Given the description of an element on the screen output the (x, y) to click on. 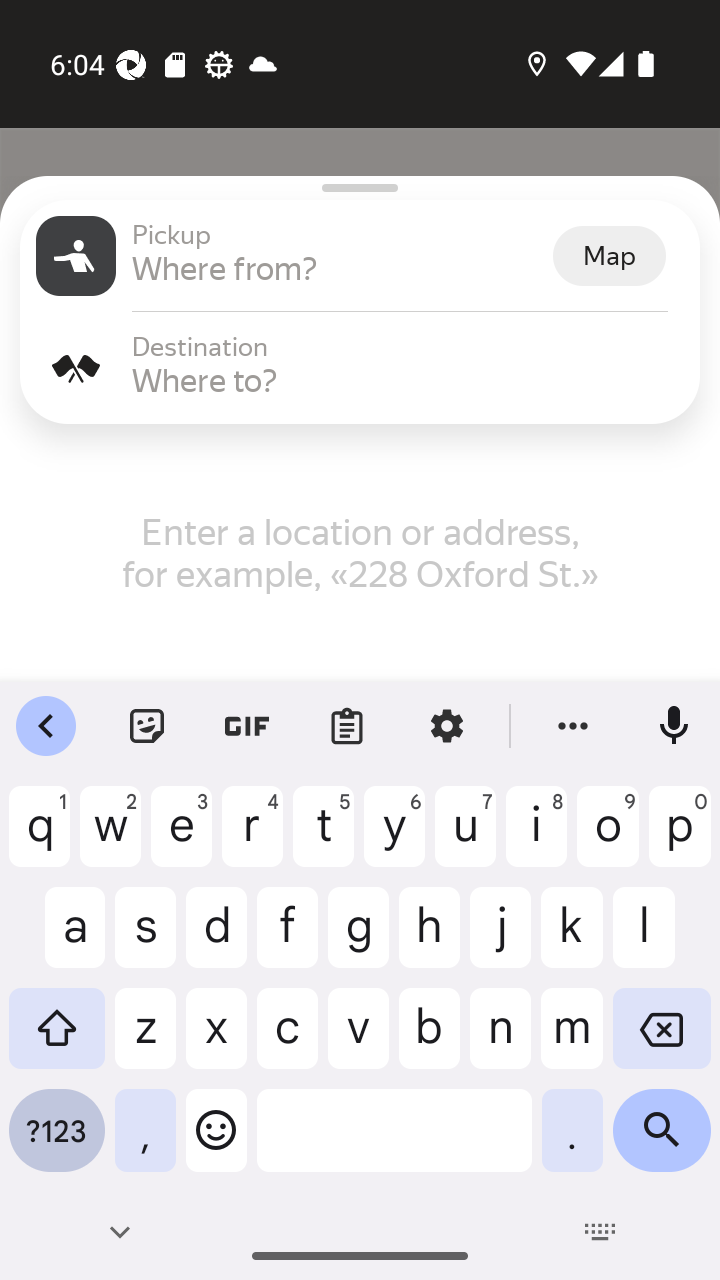
Pickup Pickup Where from? Map (359, 255)
Map (609, 256)
Where from? (340, 268)
Destination Destination Where to? (359, 367)
Where to? (407, 380)
